Given the description of an element on the screen output the (x, y) to click on. 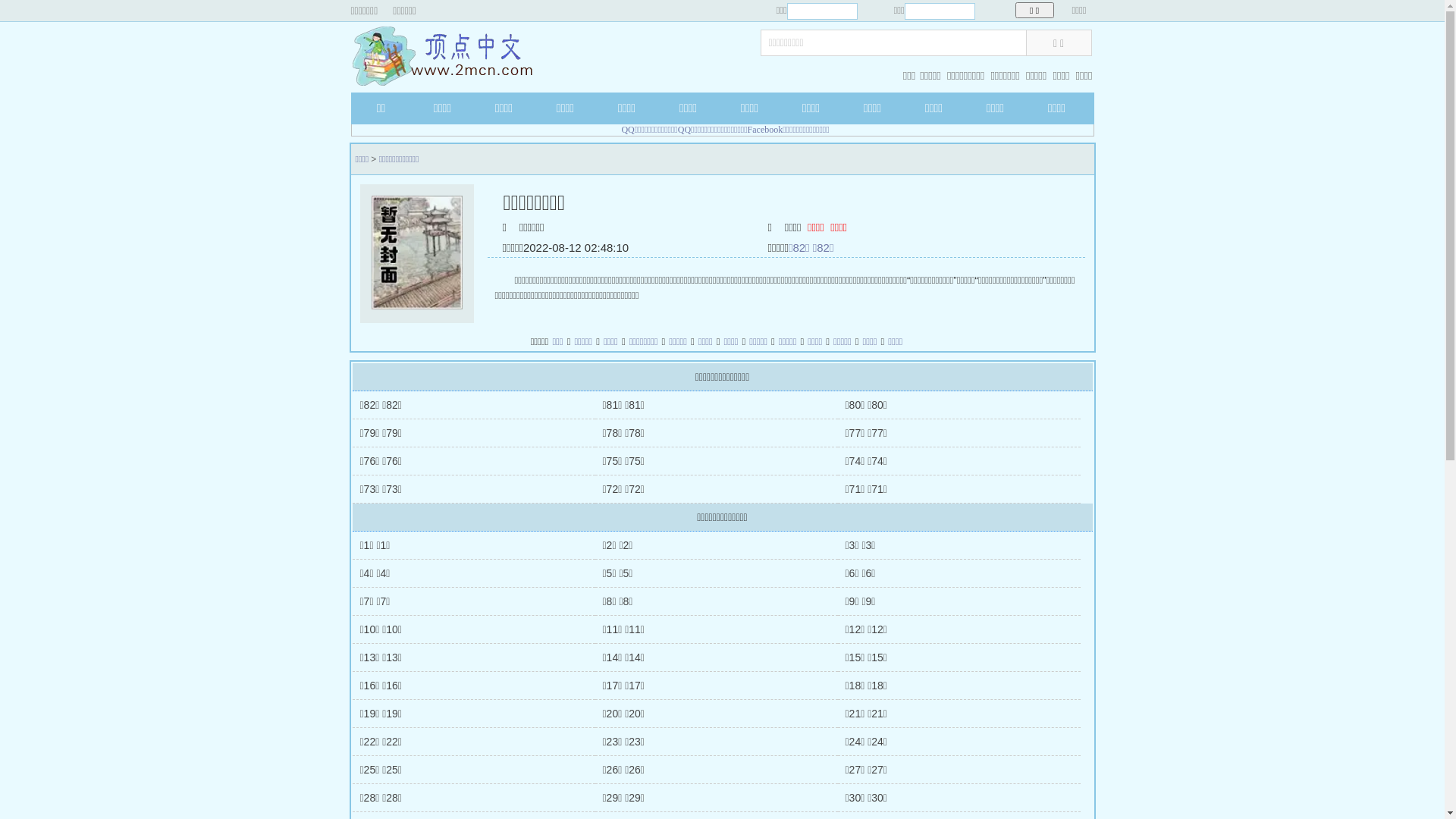
Facebook Element type: text (765, 129)
